Given the description of an element on the screen output the (x, y) to click on. 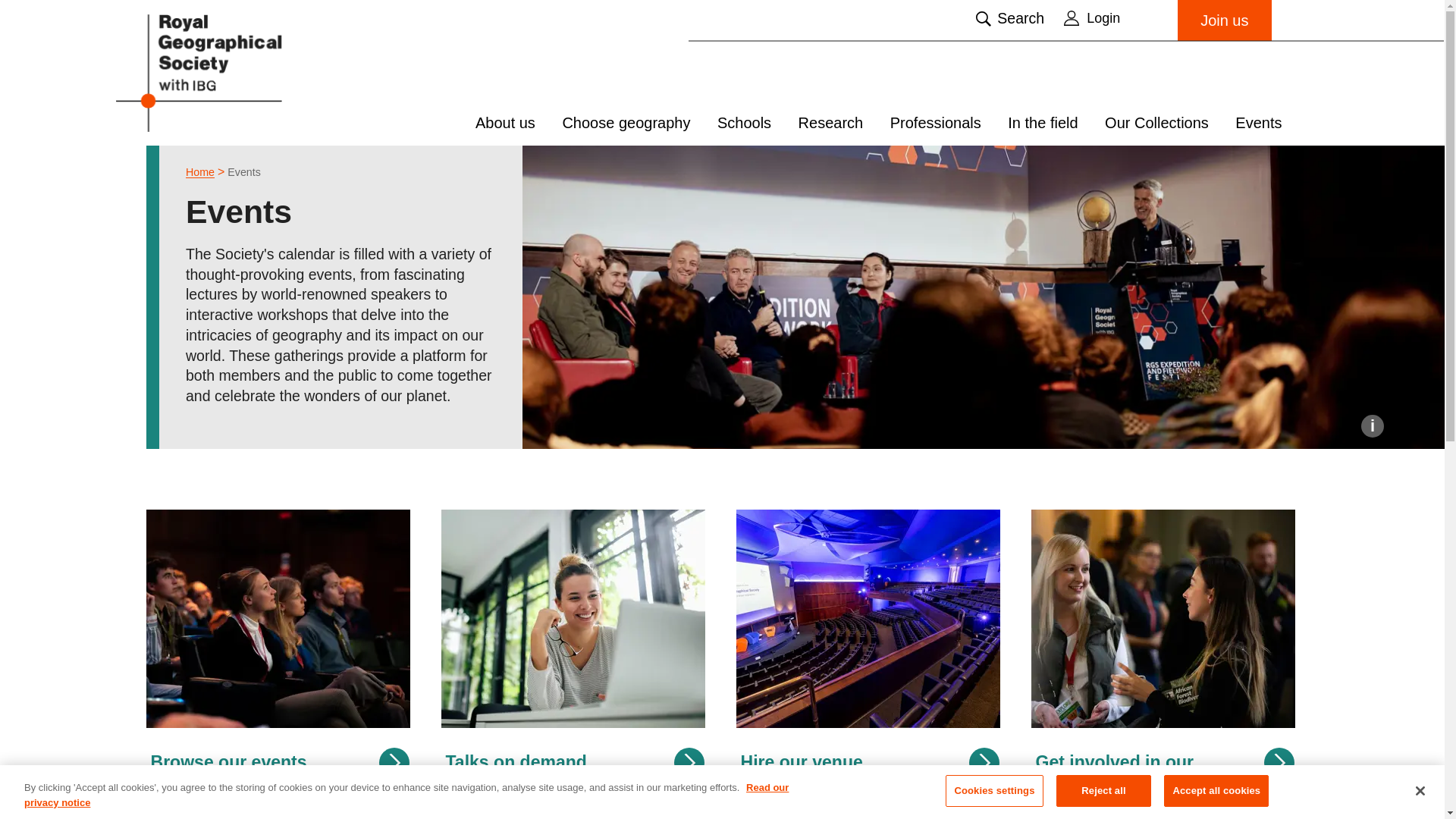
Schools (744, 122)
Search (1009, 18)
Home (200, 172)
Events (243, 172)
Royal Geographical Society (236, 72)
Research (830, 122)
Login (1112, 17)
About us (505, 122)
Choose geography (626, 122)
